Given the description of an element on the screen output the (x, y) to click on. 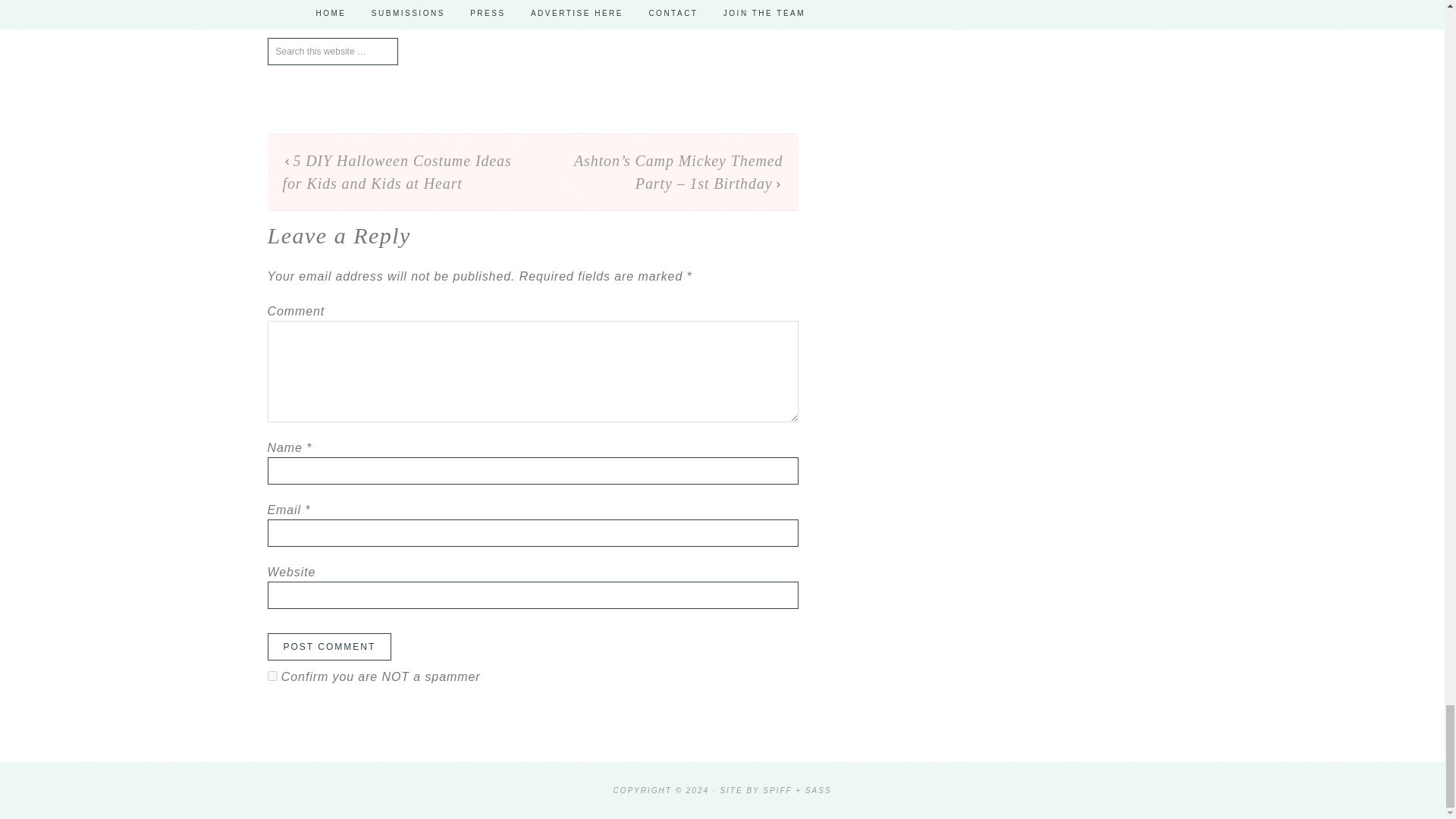
on (271, 675)
Post Comment (328, 646)
